Given the description of an element on the screen output the (x, y) to click on. 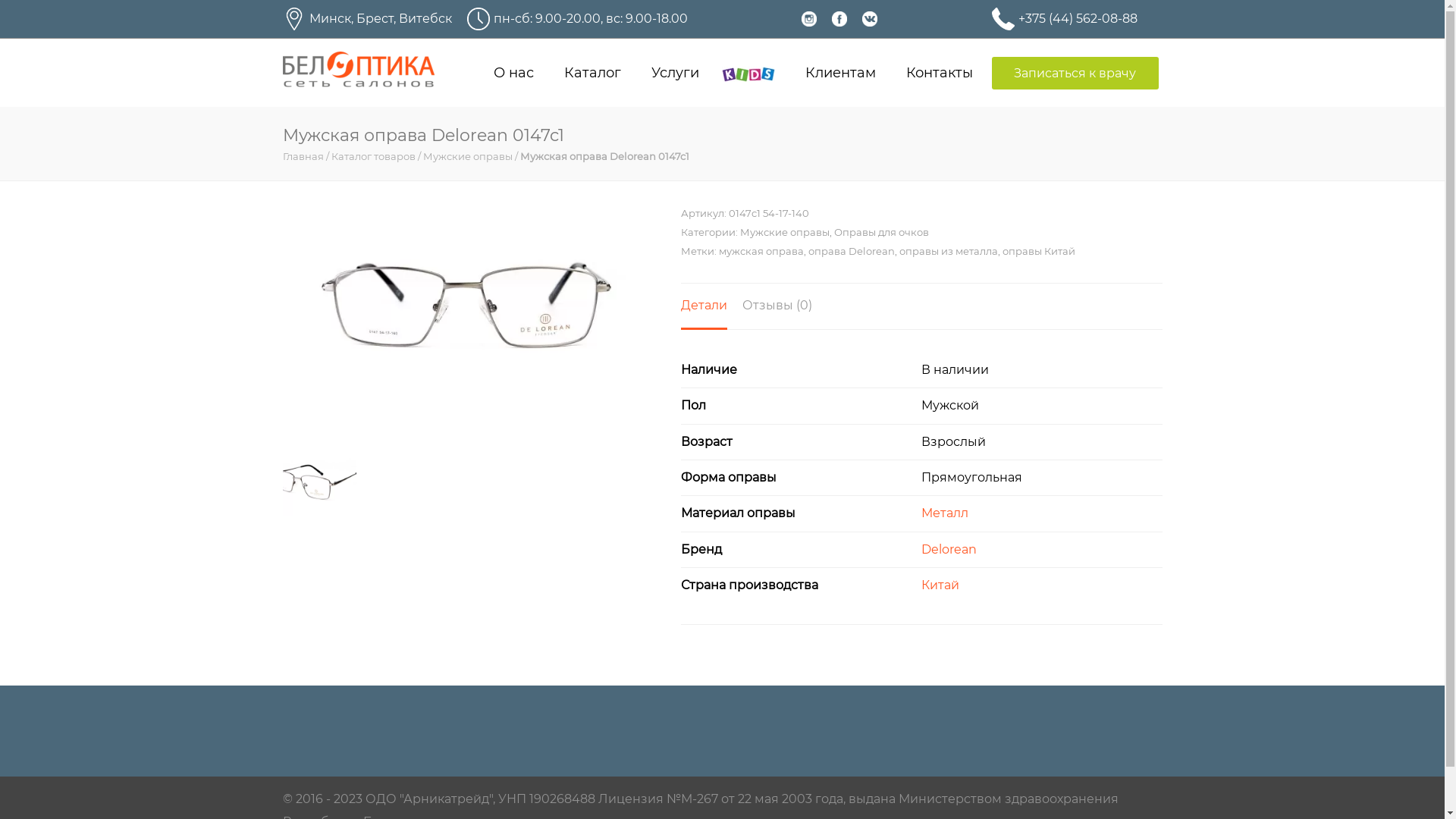
Delorean Element type: text (948, 549)
+375 (44) 562-08-88 Element type: text (1076, 18)
